Given the description of an element on the screen output the (x, y) to click on. 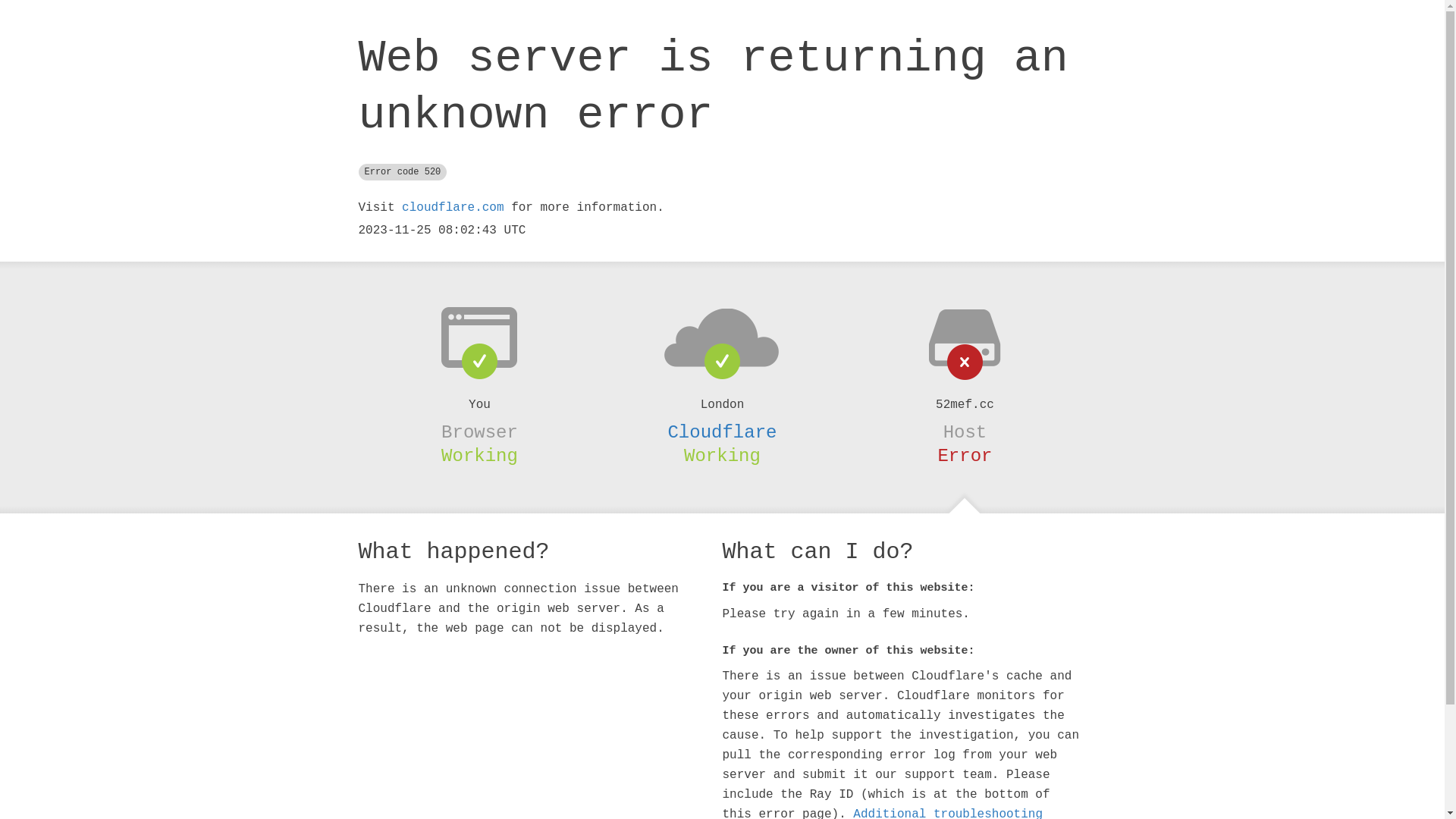
cloudflare.com Element type: text (452, 207)
Cloudflare Element type: text (721, 432)
